Given the description of an element on the screen output the (x, y) to click on. 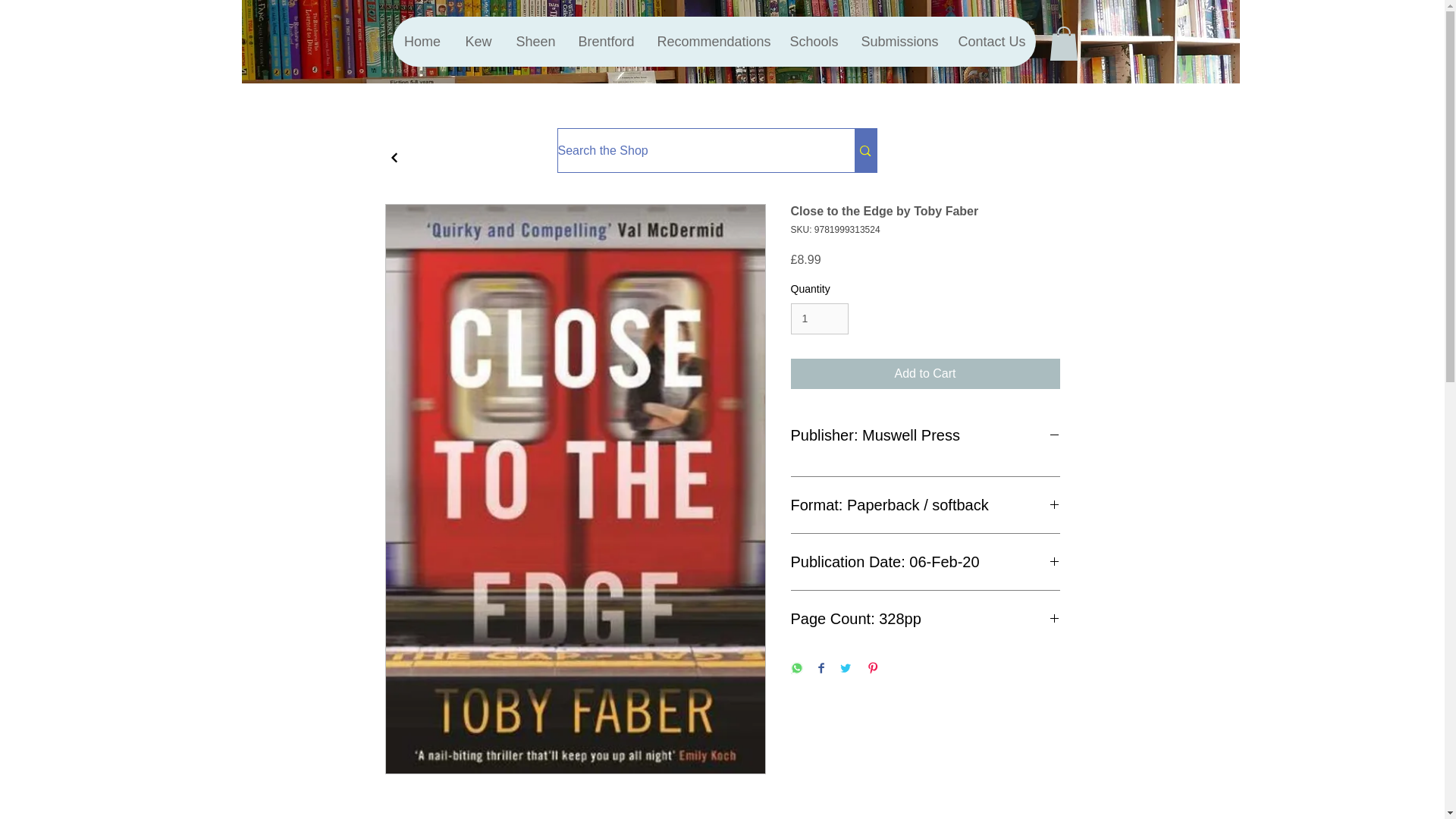
Kew (477, 41)
Publisher: Muswell Press (924, 435)
Publication Date: 06-Feb-20 (924, 561)
Home (422, 41)
Submissions (897, 41)
Add to Cart (924, 373)
Schools (812, 41)
Contact Us (990, 41)
Sheen (534, 41)
1 (818, 318)
Brentford (605, 41)
Page Count: 328pp (924, 618)
